Given the description of an element on the screen output the (x, y) to click on. 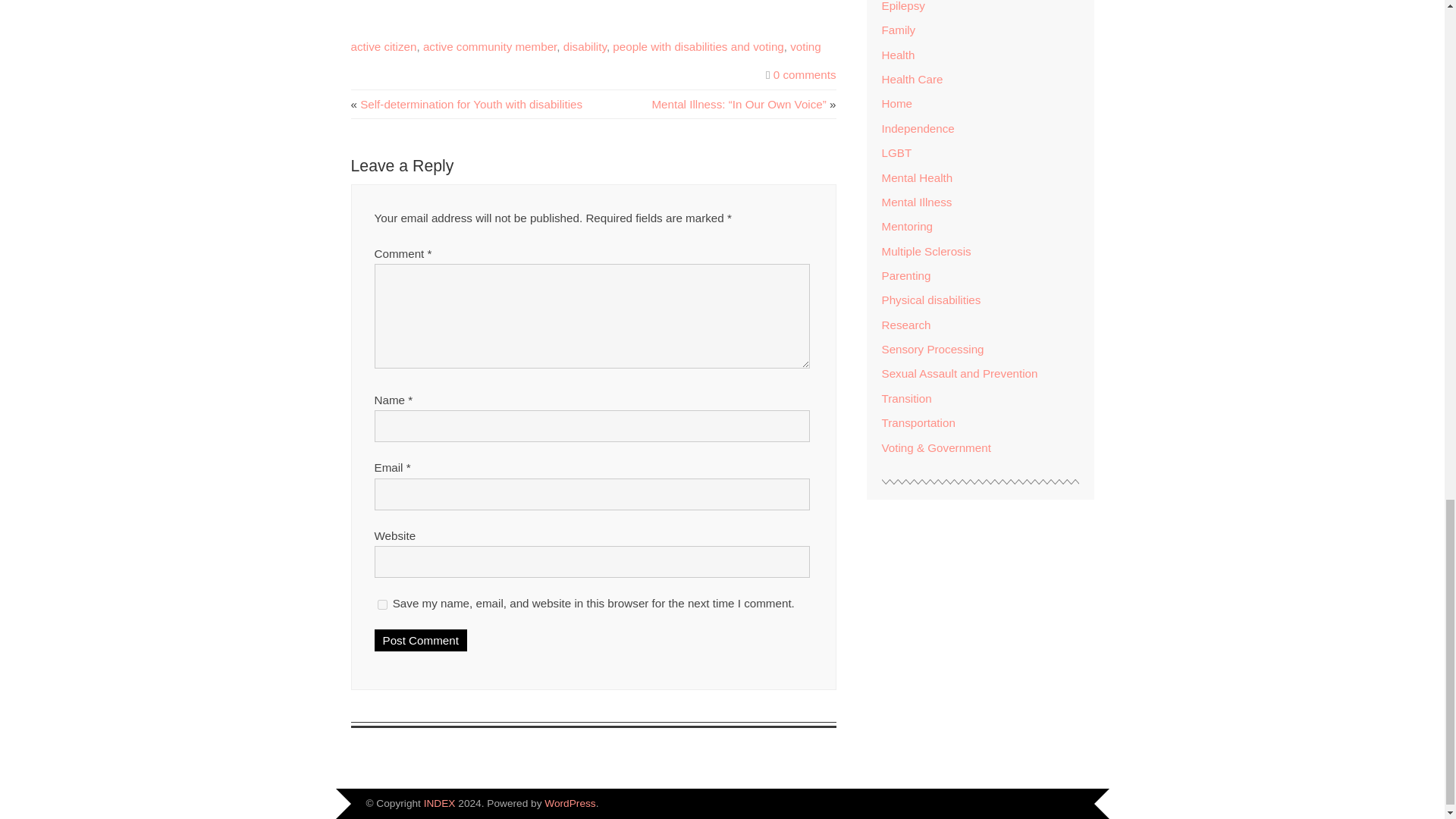
Theme designed by BluChic (1057, 805)
0 comments (804, 74)
active community member (489, 46)
people with disabilities and voting (697, 46)
disability (585, 46)
Post Comment (420, 640)
yes (382, 604)
Post Comment (420, 640)
active citizen (383, 46)
voting (805, 46)
Self-determination for Youth with disabilities (470, 103)
